Given the description of an element on the screen output the (x, y) to click on. 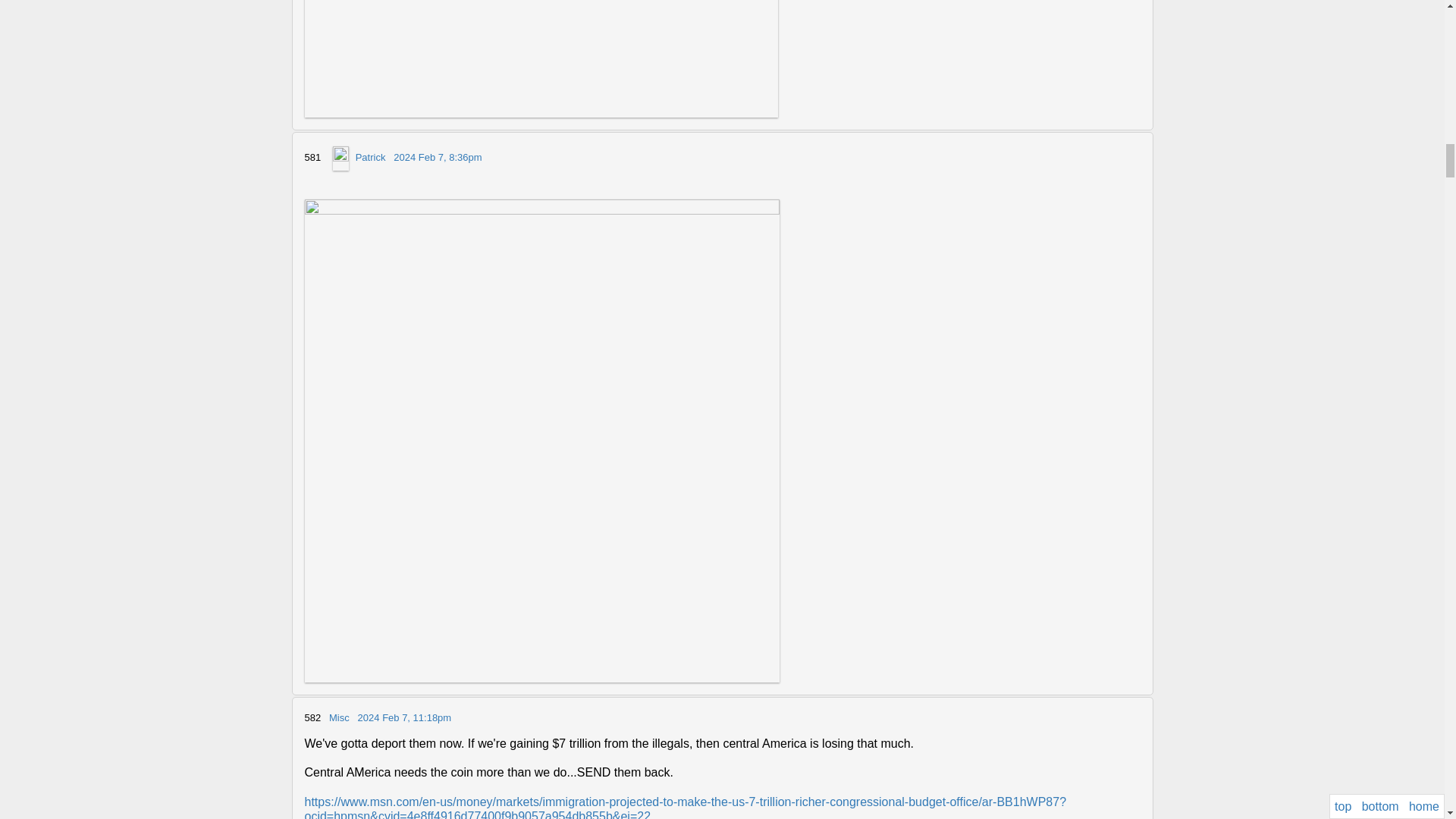
permalink to this comment (404, 717)
permalink to this comment (437, 157)
